Given the description of an element on the screen output the (x, y) to click on. 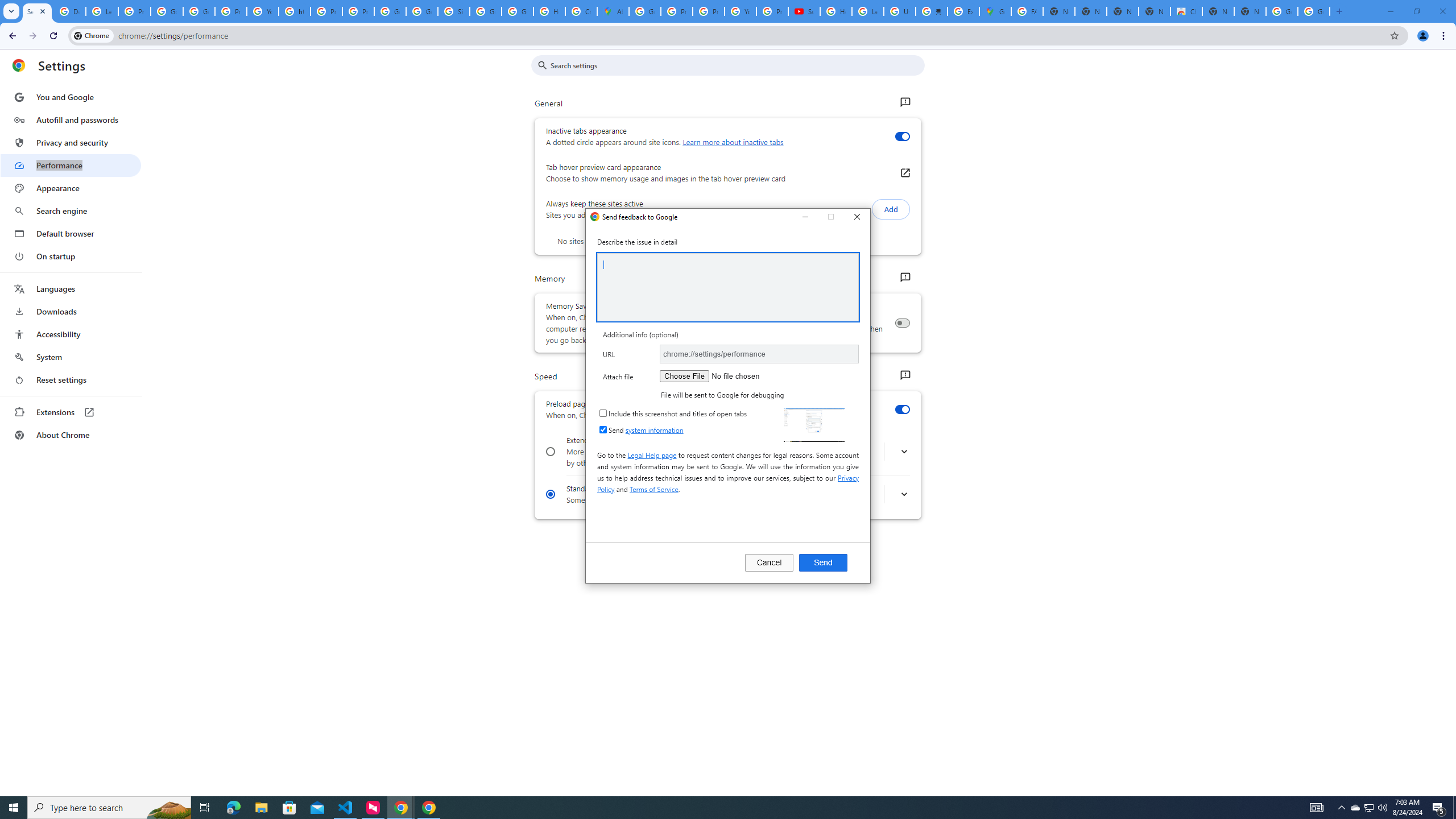
Action Center, 5 new notifications (1439, 807)
Preload pages (901, 409)
Q2790: 100% (1382, 807)
Describe the issue in detail (727, 287)
Learn more about inactive tabs (732, 141)
Memory Saver (901, 323)
Appearance (70, 187)
Google Account Help (166, 11)
Microsoft Store (289, 807)
Type here to search (108, 807)
Search engine (70, 210)
